Given the description of an element on the screen output the (x, y) to click on. 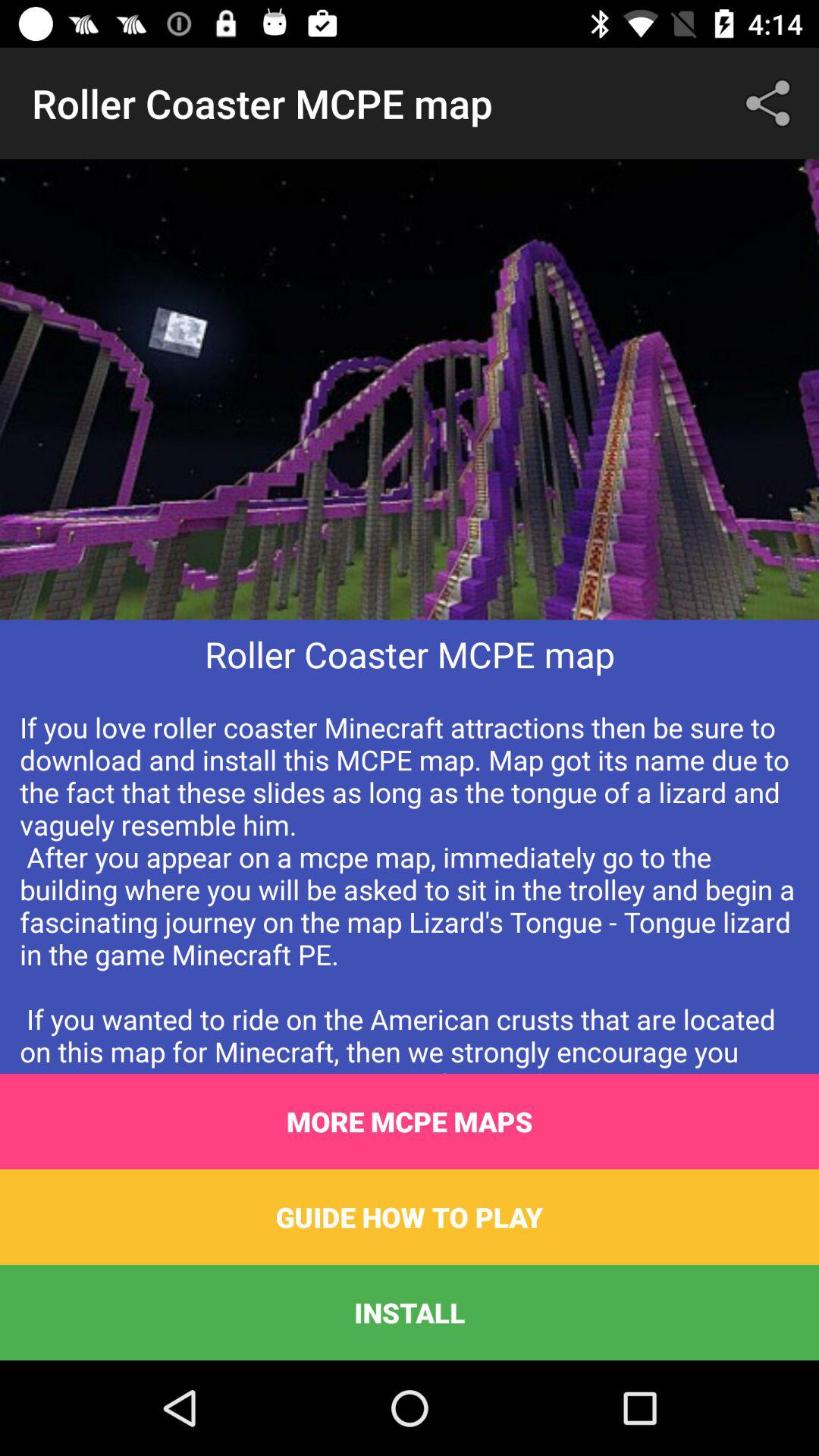
turn off the item below if you love (409, 1121)
